Given the description of an element on the screen output the (x, y) to click on. 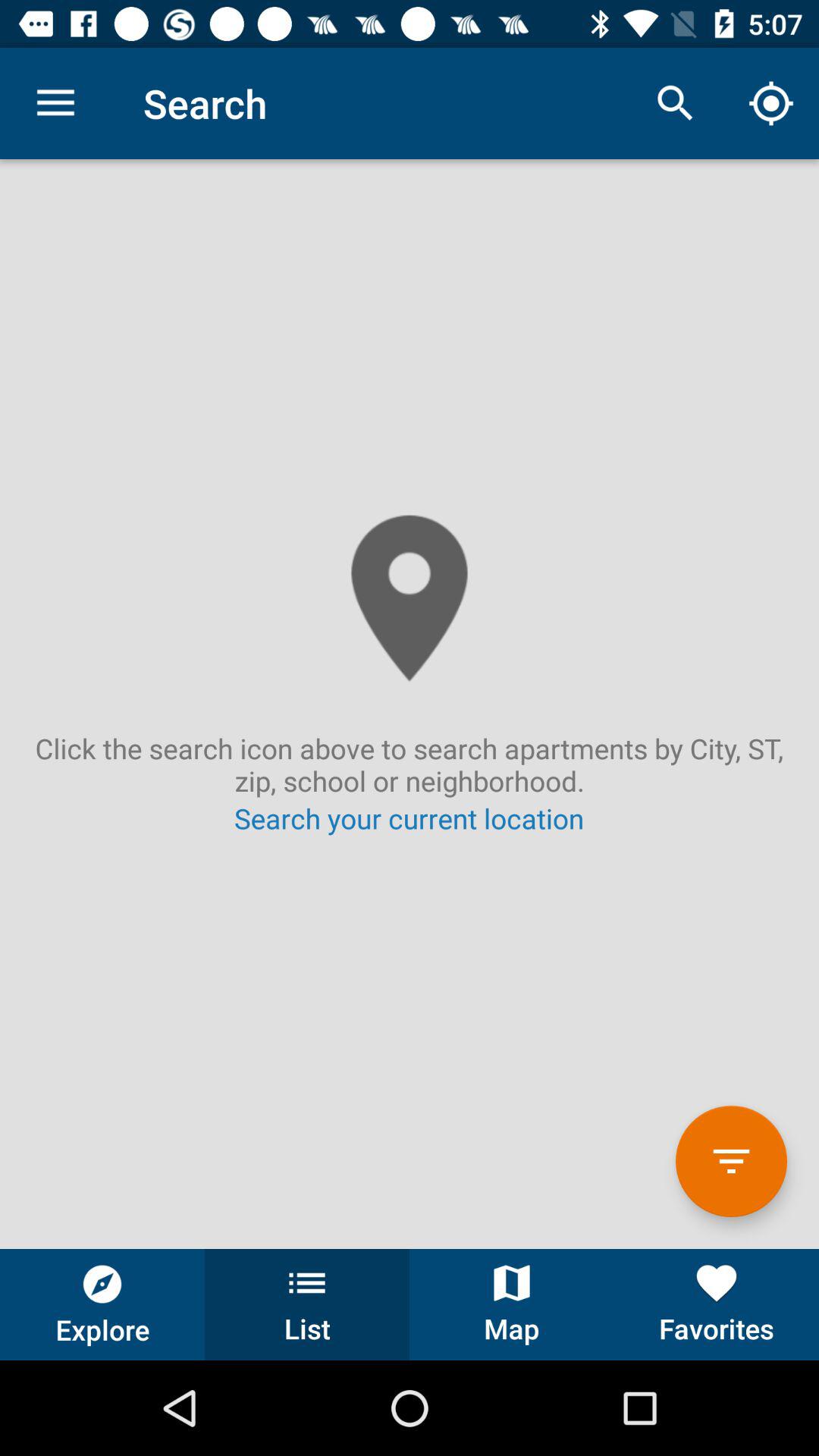
go to the filter option (731, 1161)
